Given the description of an element on the screen output the (x, y) to click on. 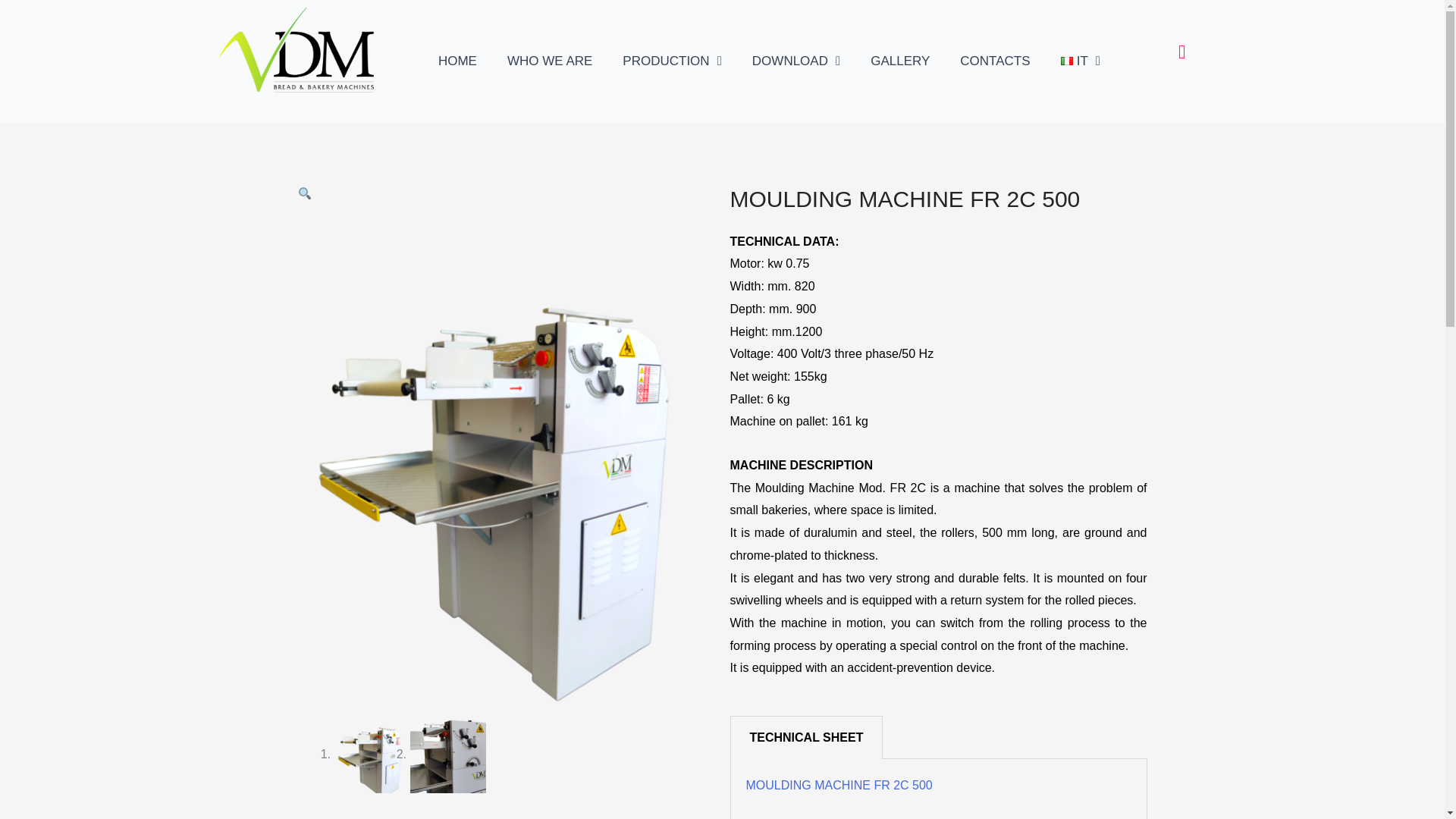
PRODUCTION (671, 61)
IT (1080, 61)
GALLERY (900, 61)
CONTACTS (994, 61)
HOME (457, 61)
WHO WE ARE (549, 61)
DOWNLOAD (796, 61)
